Given the description of an element on the screen output the (x, y) to click on. 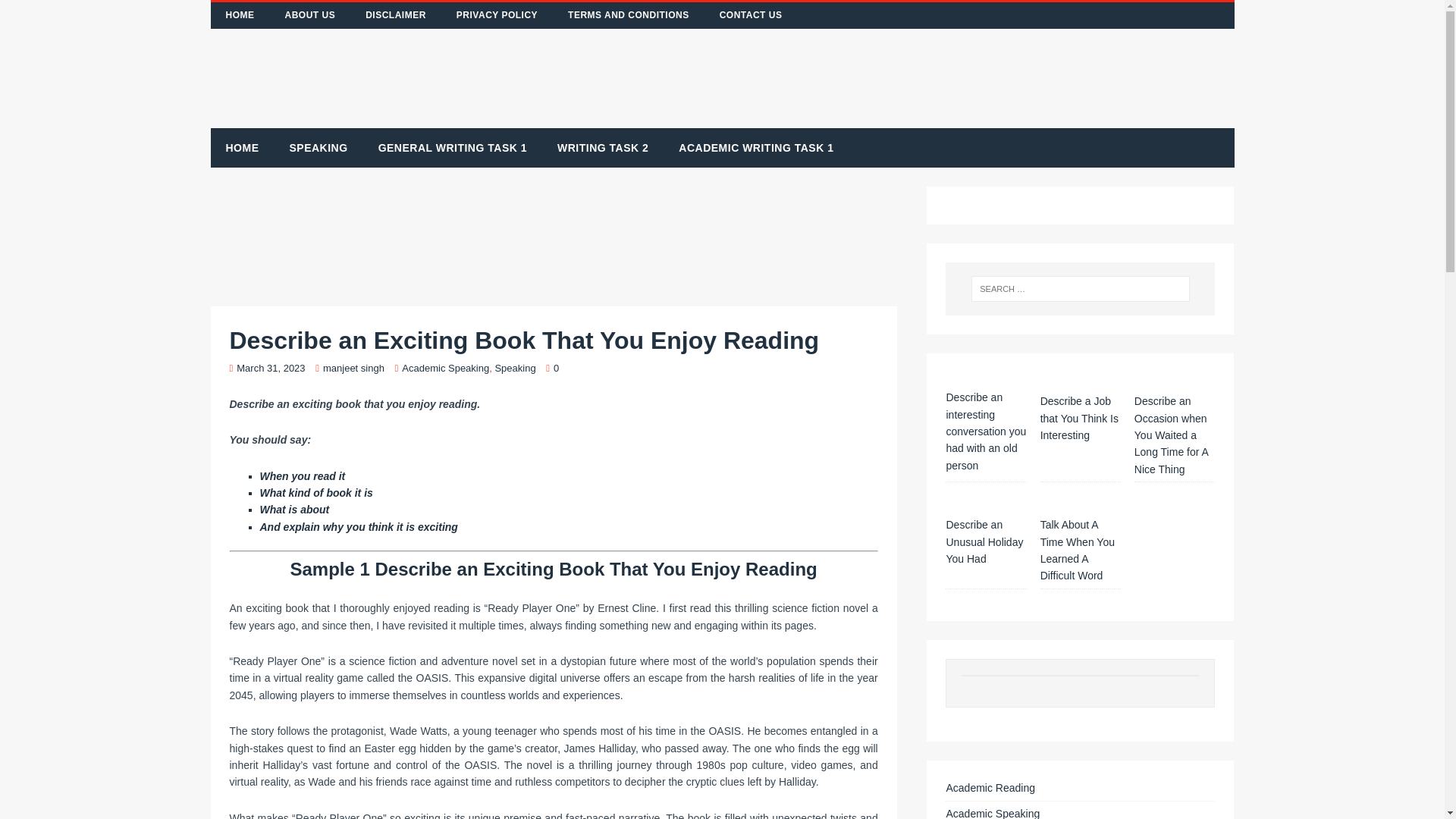
PRIVACY POLICY (497, 15)
GENERAL WRITING TASK 1 (451, 147)
HOME (240, 15)
CONTACT US (750, 15)
DISCLAIMER (395, 15)
Describe an Unusual Holiday You Had (983, 541)
manjeet singh (353, 367)
ABOUT US (309, 15)
